Given the description of an element on the screen output the (x, y) to click on. 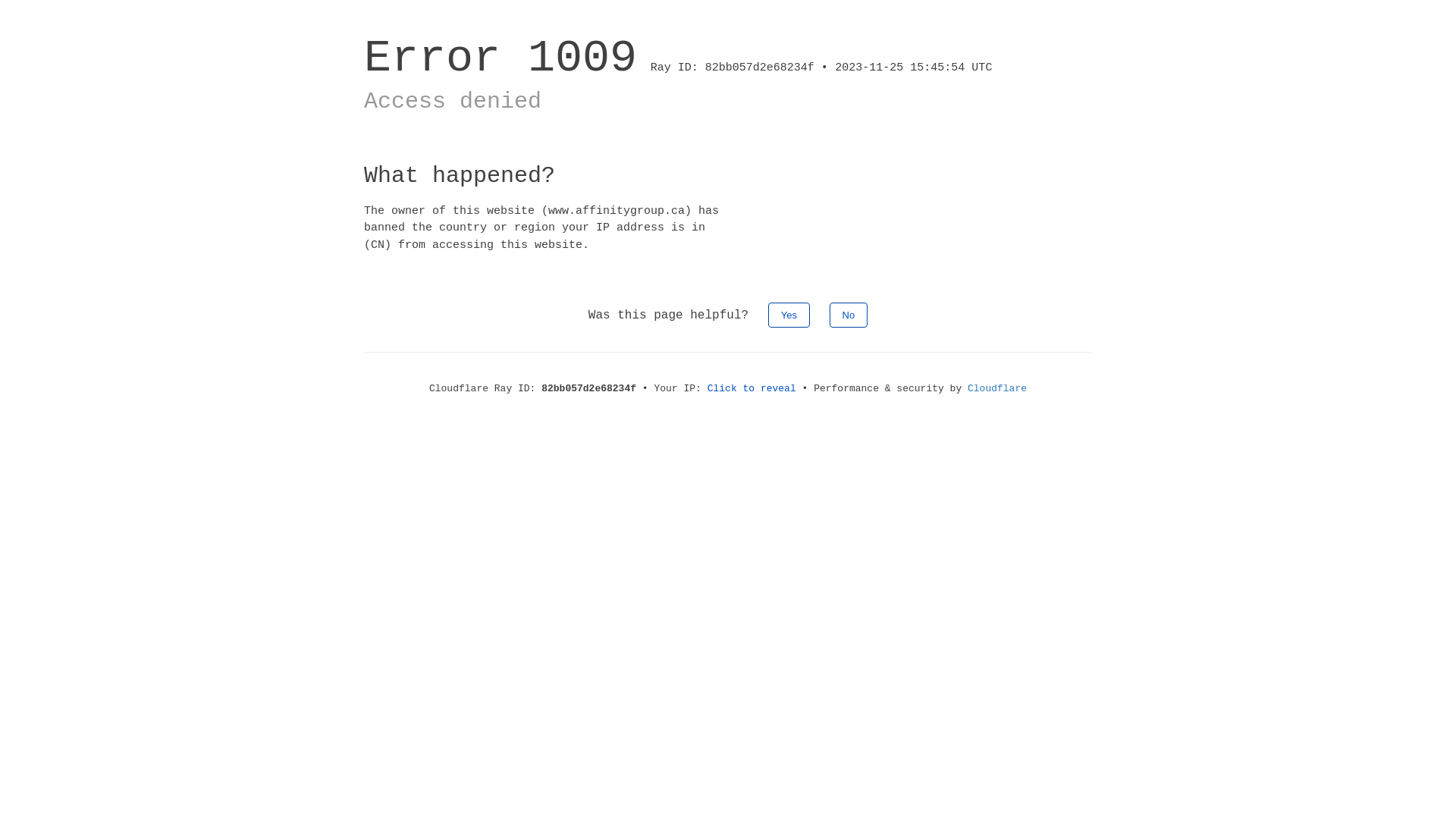
Yes Element type: text (788, 314)
Cloudflare Element type: text (996, 388)
No Element type: text (848, 314)
Click to reveal Element type: text (751, 388)
